Given the description of an element on the screen output the (x, y) to click on. 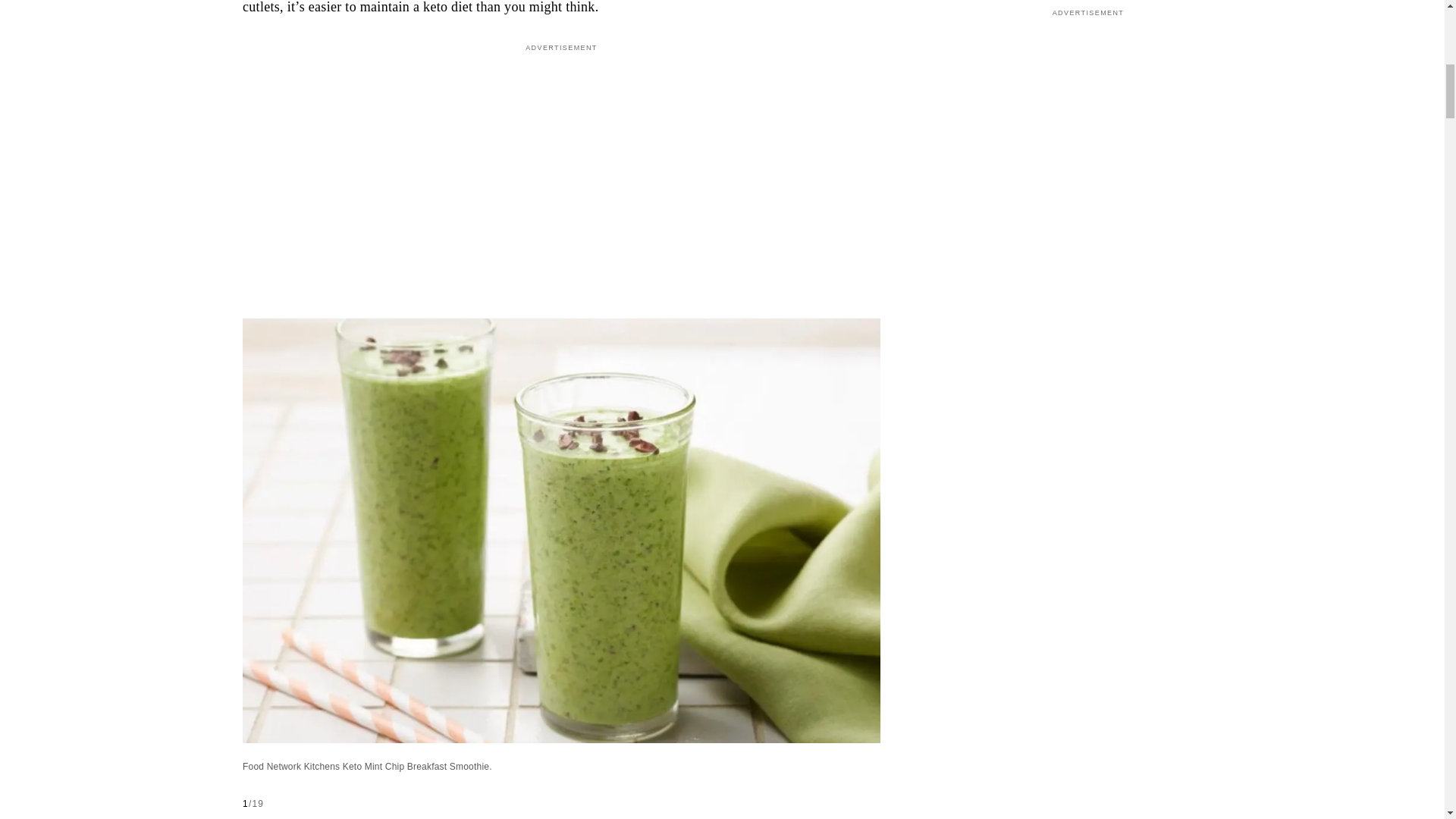
3rd party ad content (560, 156)
